Given the description of an element on the screen output the (x, y) to click on. 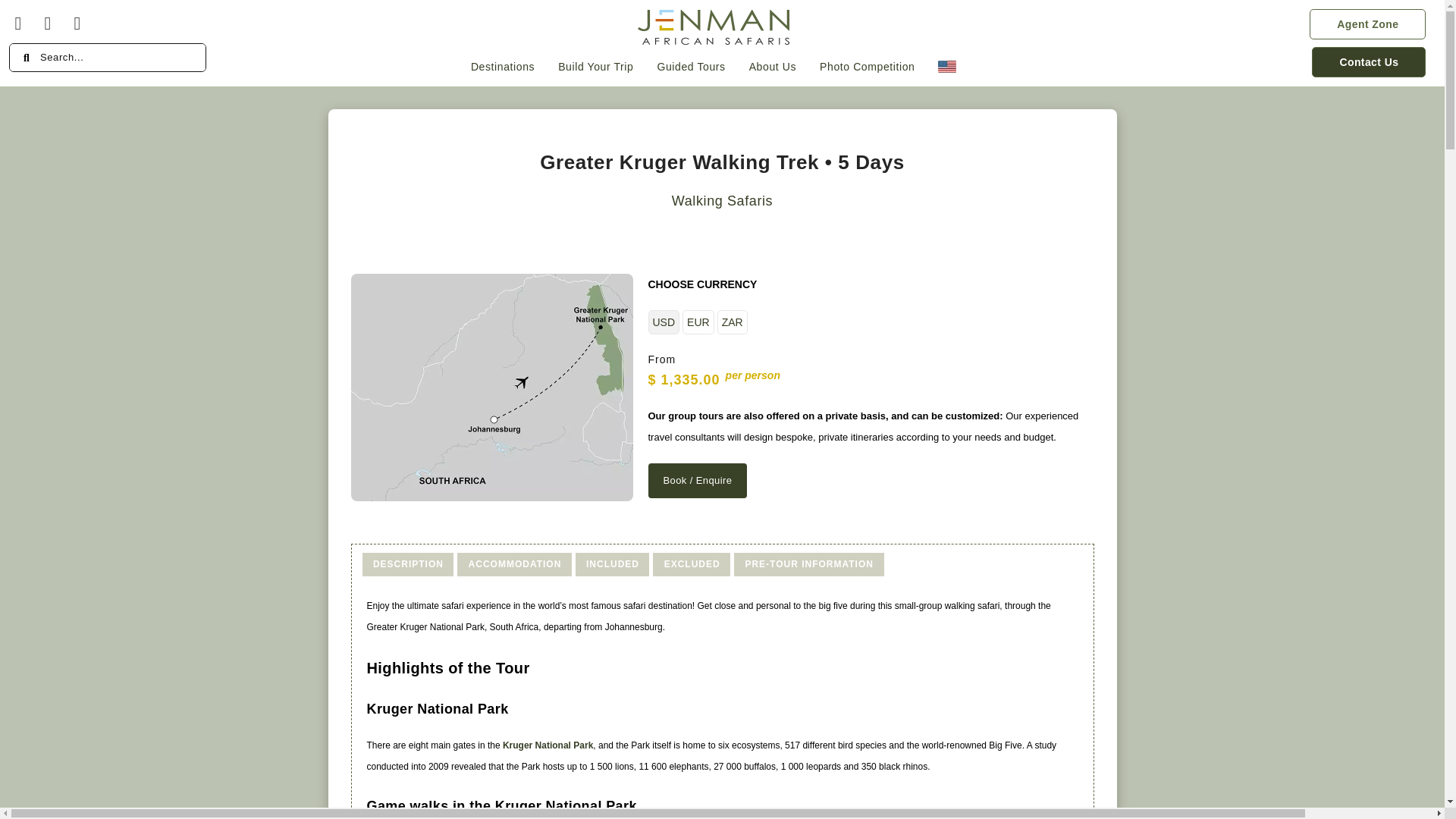
Build Your Trip (595, 65)
Destinations (502, 65)
About Us (772, 65)
Guided Tours (690, 65)
Photo Competition (866, 65)
